Given the description of an element on the screen output the (x, y) to click on. 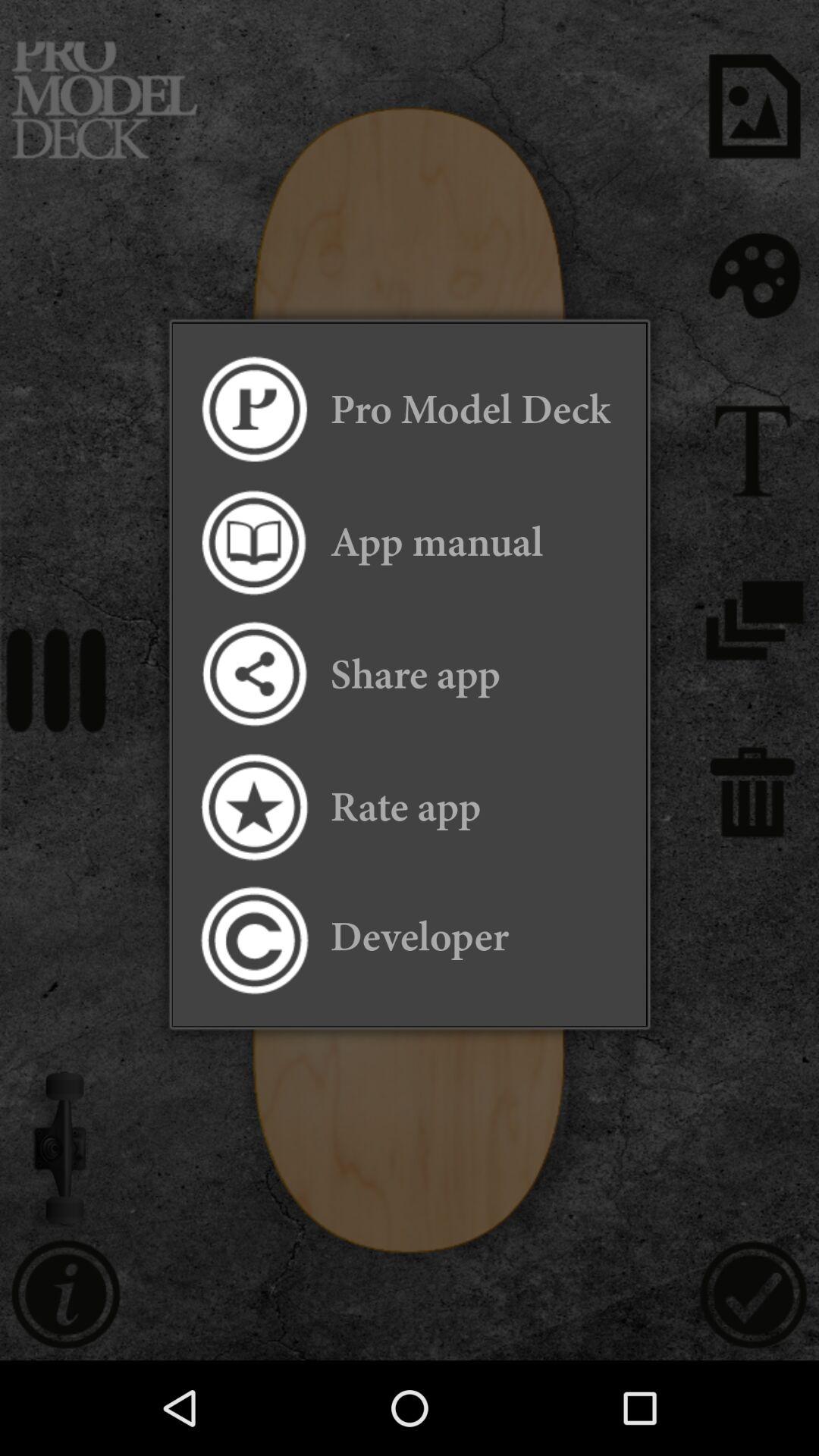
open the icon next to rate app app (253, 807)
